Given the description of an element on the screen output the (x, y) to click on. 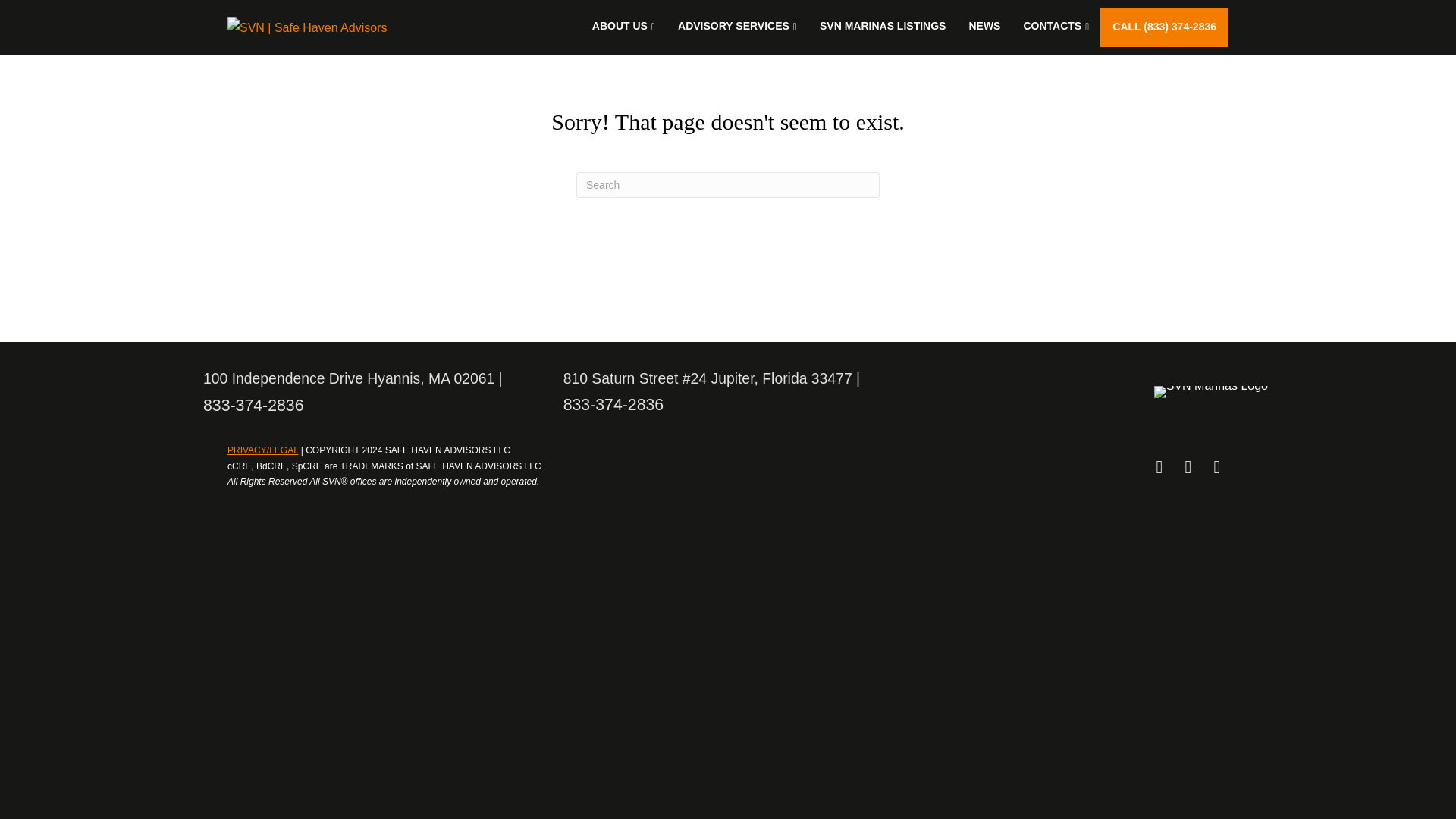
Type and press Enter to search. (727, 184)
Facebook (1159, 466)
833-374-2836 (253, 405)
Linkedin (1187, 466)
NEWS (983, 26)
833-374-2836 (613, 404)
ABOUT US (623, 26)
Instagram (1216, 466)
CONTACTS (1055, 26)
SVN MARINAS LISTINGS (882, 26)
